Given the description of an element on the screen output the (x, y) to click on. 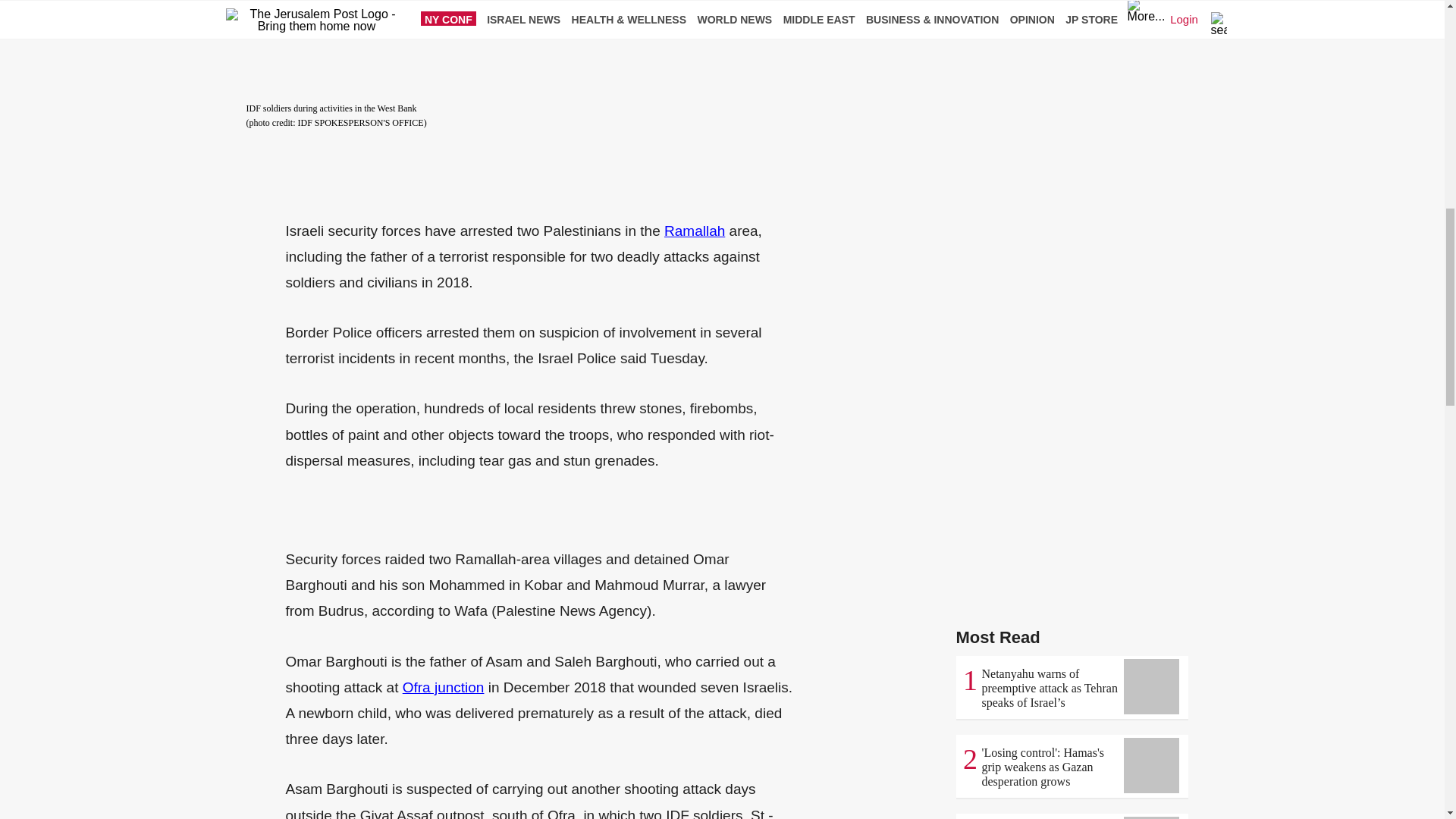
Ofra junction (443, 687)
Ramallah (694, 230)
IDF soldiers during activities in the West Bank (557, 48)
